Given the description of an element on the screen output the (x, y) to click on. 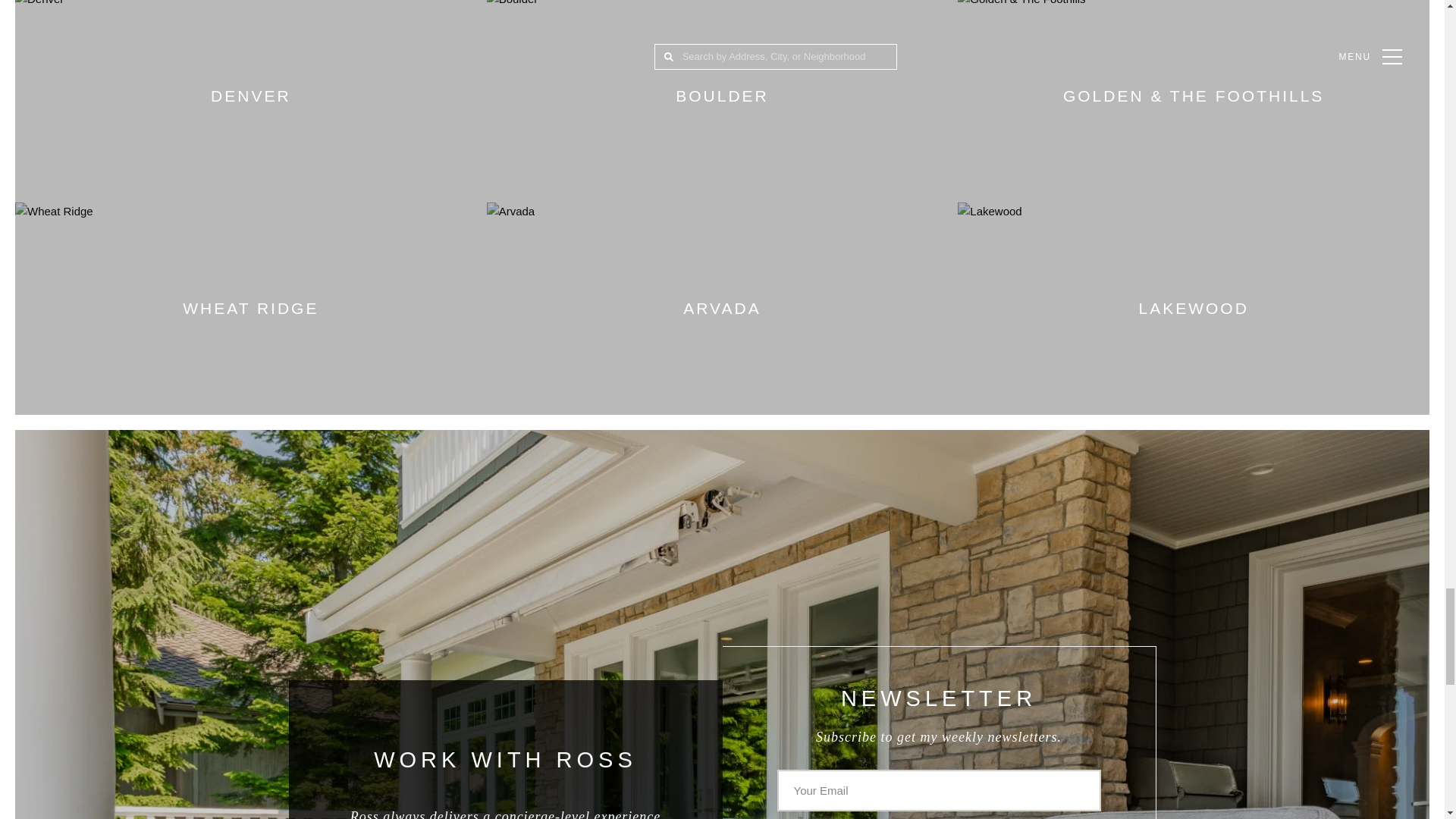
DENVER (250, 101)
WHEAT RIDGE (250, 308)
BOULDER (722, 101)
ARVADA (722, 308)
